Given the description of an element on the screen output the (x, y) to click on. 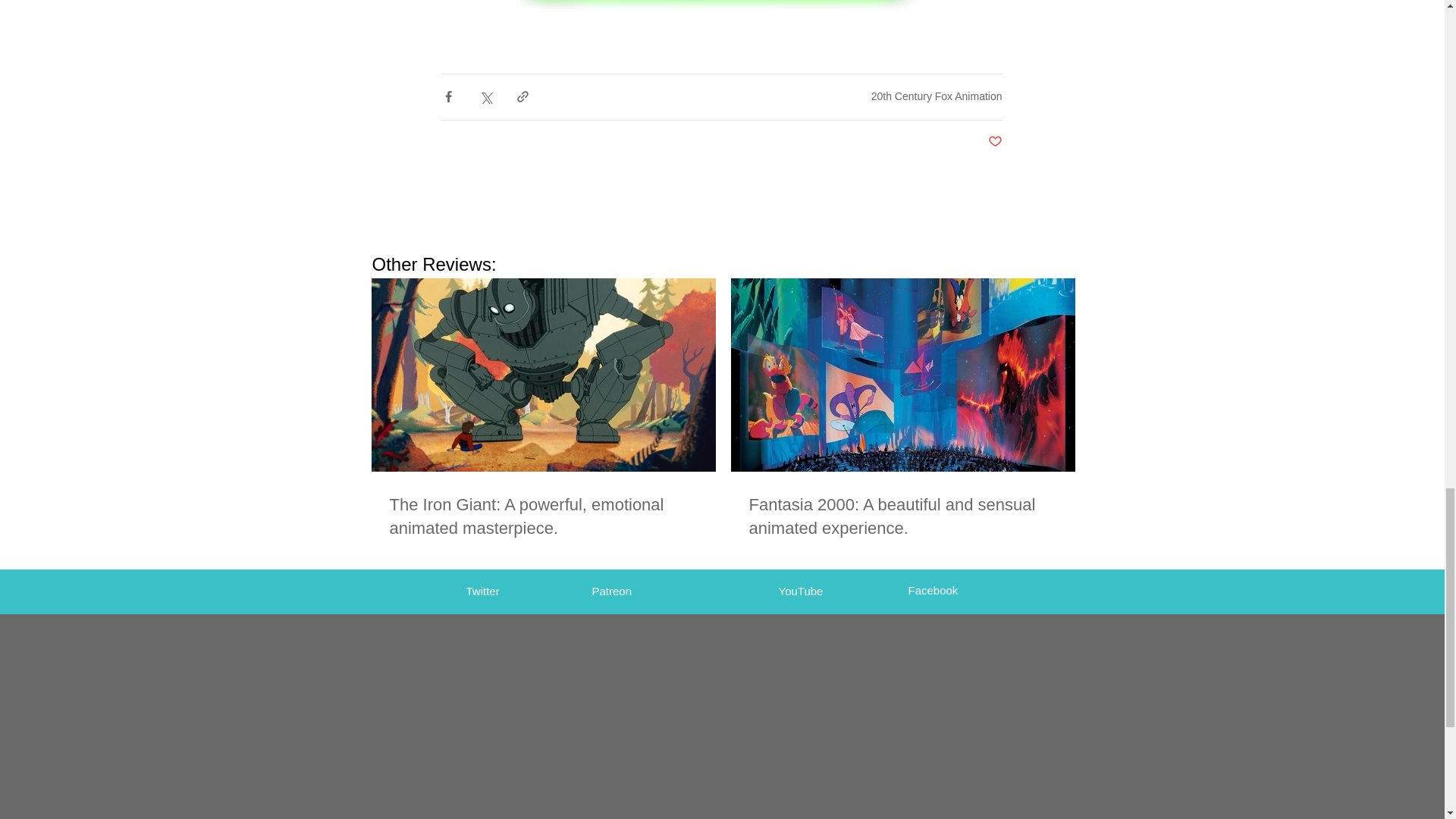
Fantasia 2000: A beautiful and sensual animated experience. (903, 516)
Facebook (933, 590)
The Iron Giant: A powerful, emotional animated masterpiece. (543, 516)
Patreon (611, 590)
YouTube (799, 590)
Post not marked as liked (994, 141)
Twitter (482, 590)
20th Century Fox Animation (936, 96)
